Given the description of an element on the screen output the (x, y) to click on. 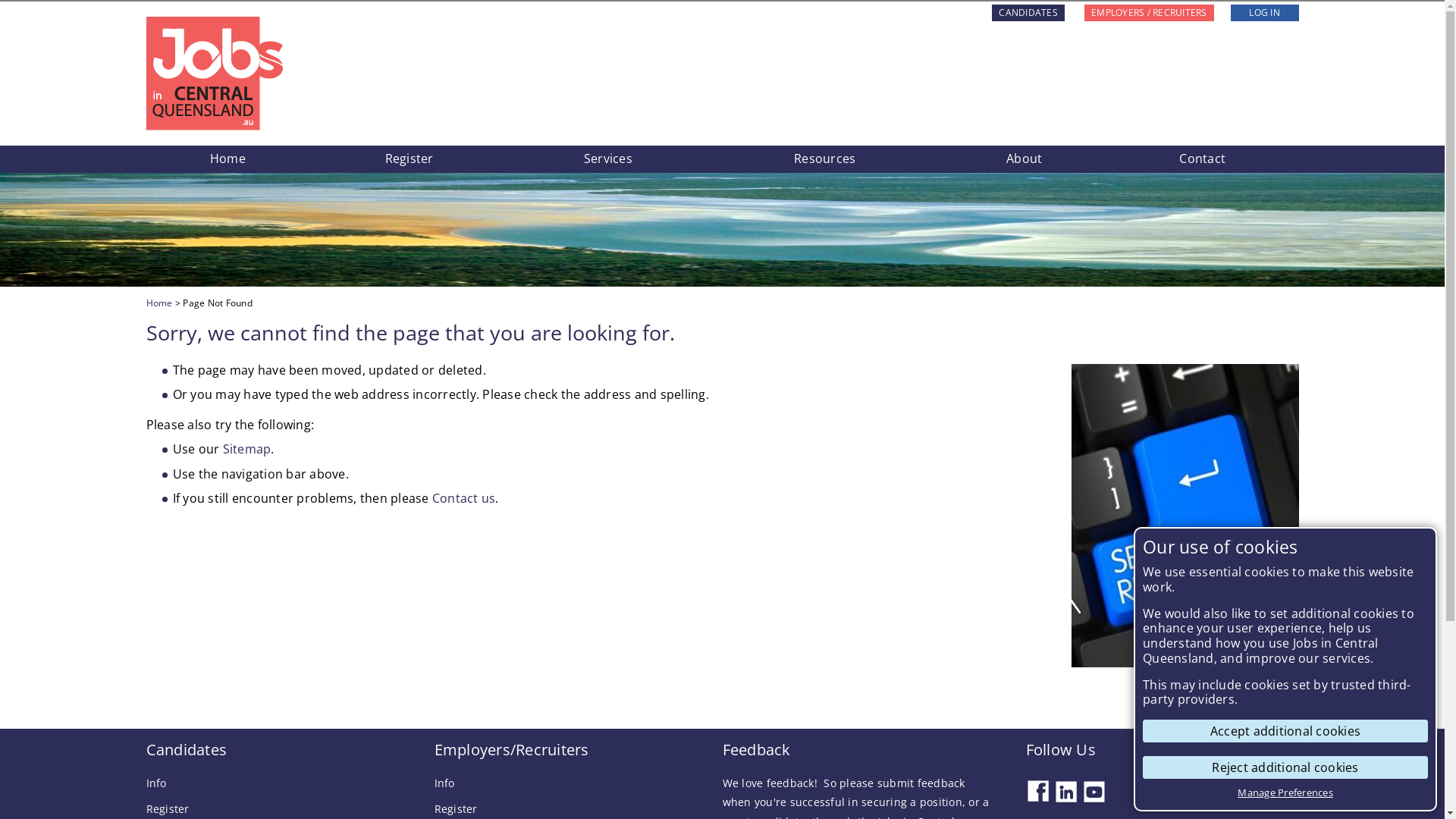
Contact Element type: text (1202, 158)
Manage Preferences Element type: text (1285, 792)
Accept additional cookies Element type: text (1284, 730)
Register Element type: text (408, 158)
Resources Element type: text (824, 158)
Info Element type: text (443, 783)
CANDIDATES Element type: text (1027, 12)
Services Element type: text (607, 158)
EMPLOYERS / RECRUITERS Element type: text (1149, 12)
Reject additional cookies Element type: text (1284, 767)
Home Element type: text (227, 158)
Home Element type: text (158, 302)
Sitemap Element type: text (246, 448)
Contact us Element type: text (463, 497)
About Element type: text (1023, 158)
Info Element type: text (155, 783)
LOG IN Element type: text (1264, 12)
